Given the description of an element on the screen output the (x, y) to click on. 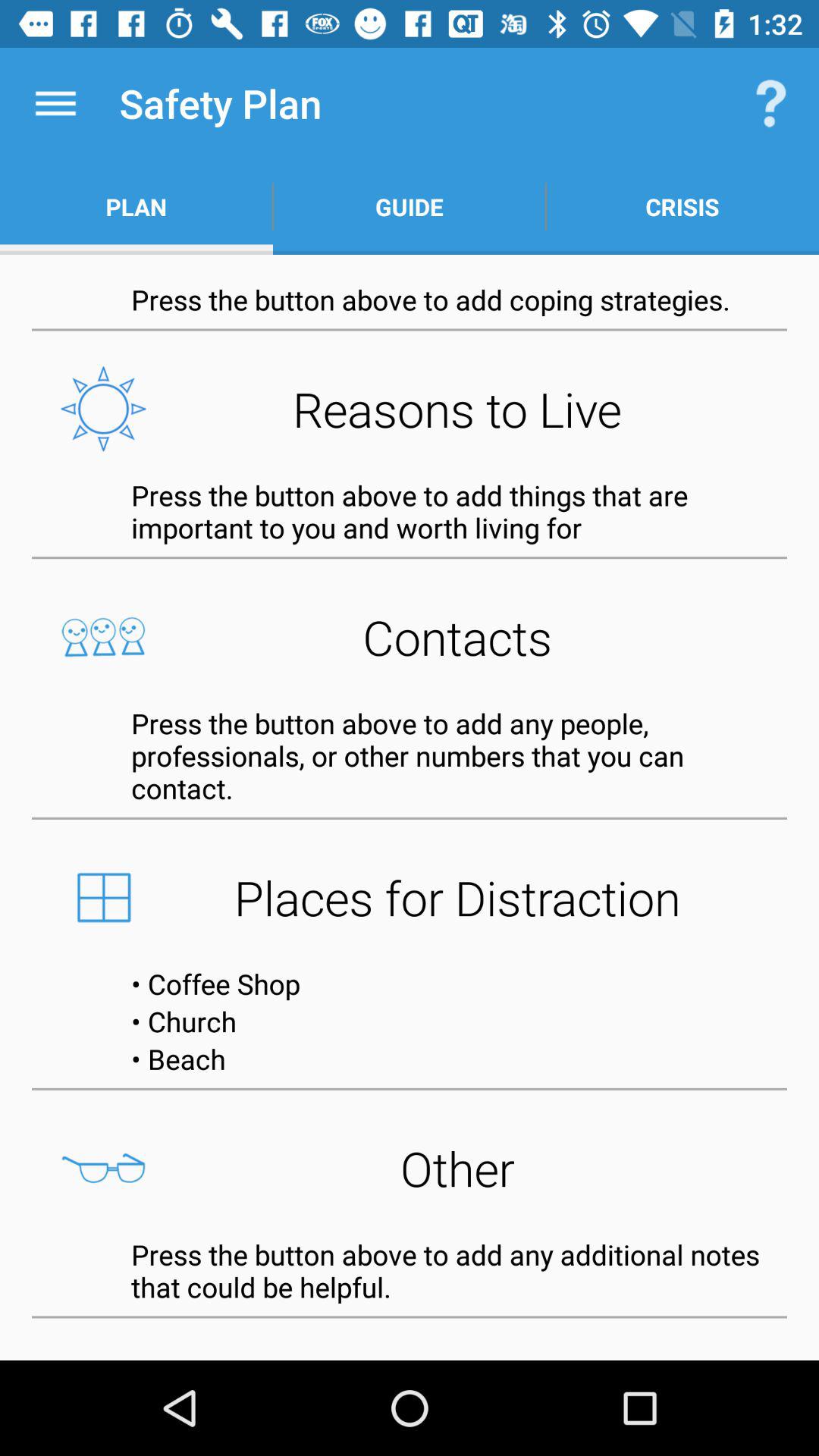
select icon next to the guide (682, 206)
